Given the description of an element on the screen output the (x, y) to click on. 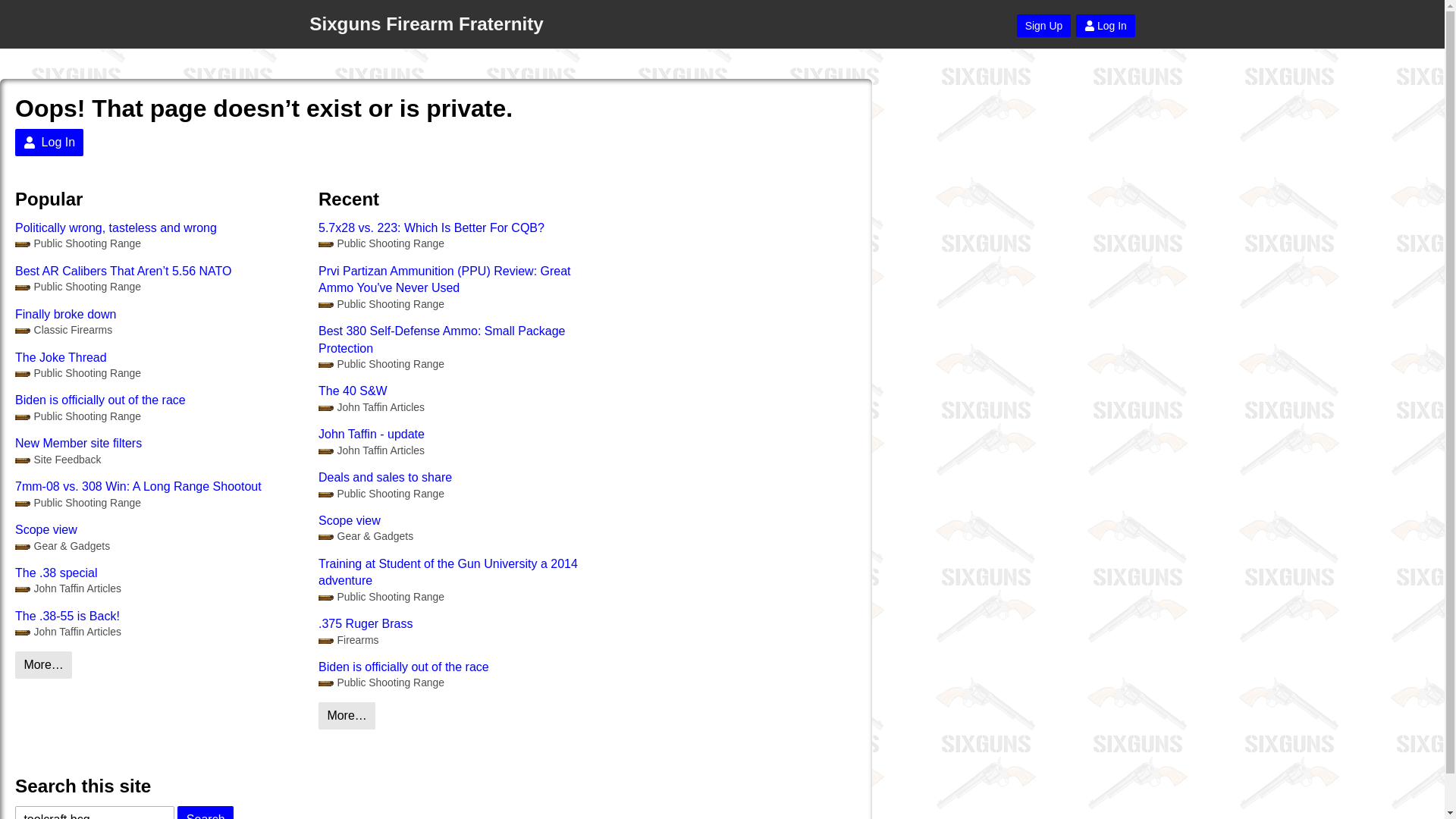
Deals and sales to share (462, 477)
Training at Student of the Gun University a 2014 adventure (462, 572)
Public Shooting Range (77, 243)
John Taffin Articles (371, 407)
General Discussion Area (77, 416)
General Discussion Area (381, 304)
John Taffin Articles (371, 450)
Politically wrong, tasteless and wrong (158, 228)
7mm-08 vs. 308 Win: A Long Range Shootout (158, 486)
Finally broke down (158, 314)
General Discussion Area (381, 243)
Public Shooting Range (77, 287)
Sixguns Firearm Fraternity (425, 23)
John Taffin - update (462, 434)
The .38-55 is Back! (158, 616)
